Given the description of an element on the screen output the (x, y) to click on. 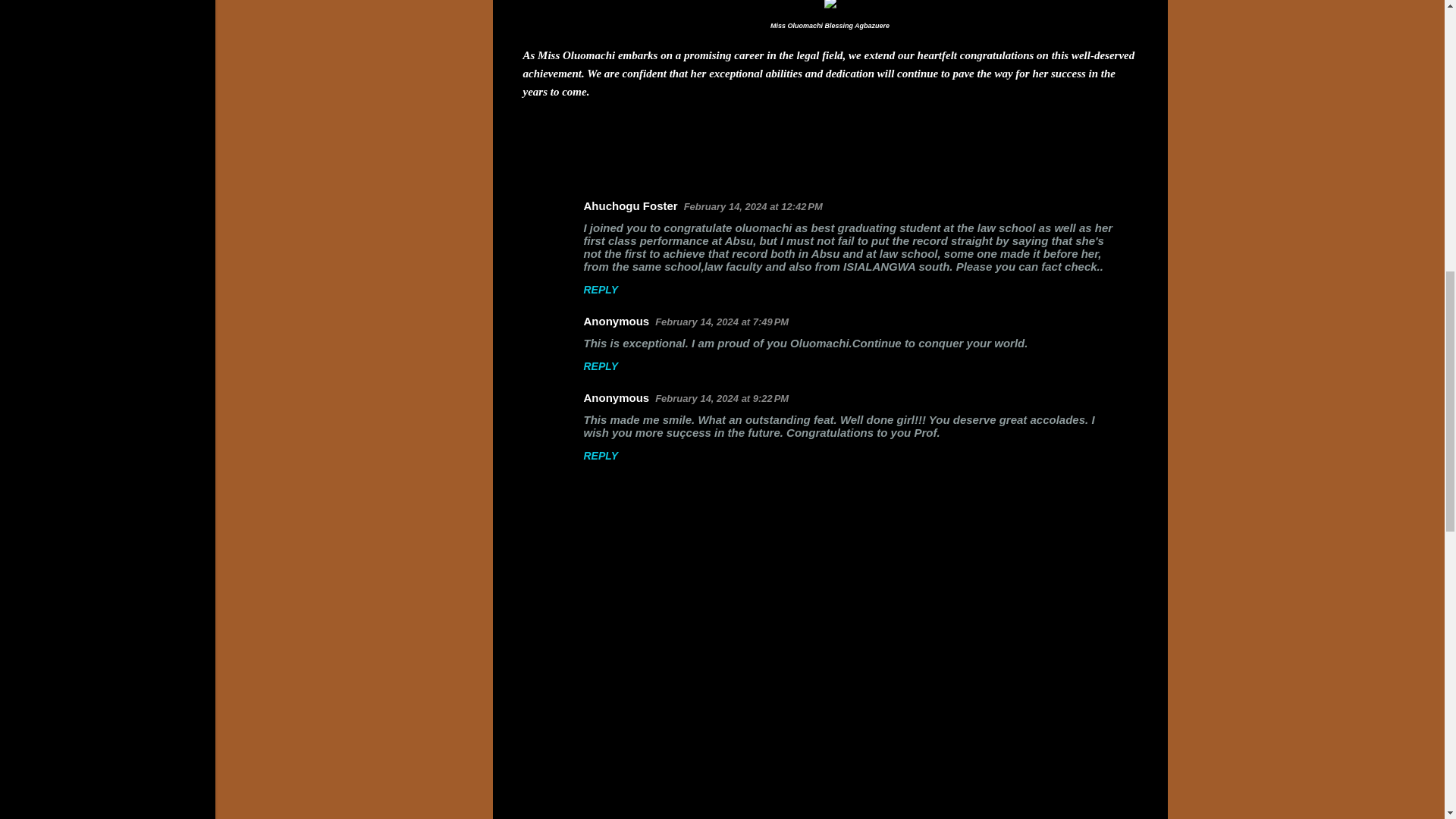
REPLY (600, 455)
REPLY (600, 289)
REPLY (600, 366)
